Given the description of an element on the screen output the (x, y) to click on. 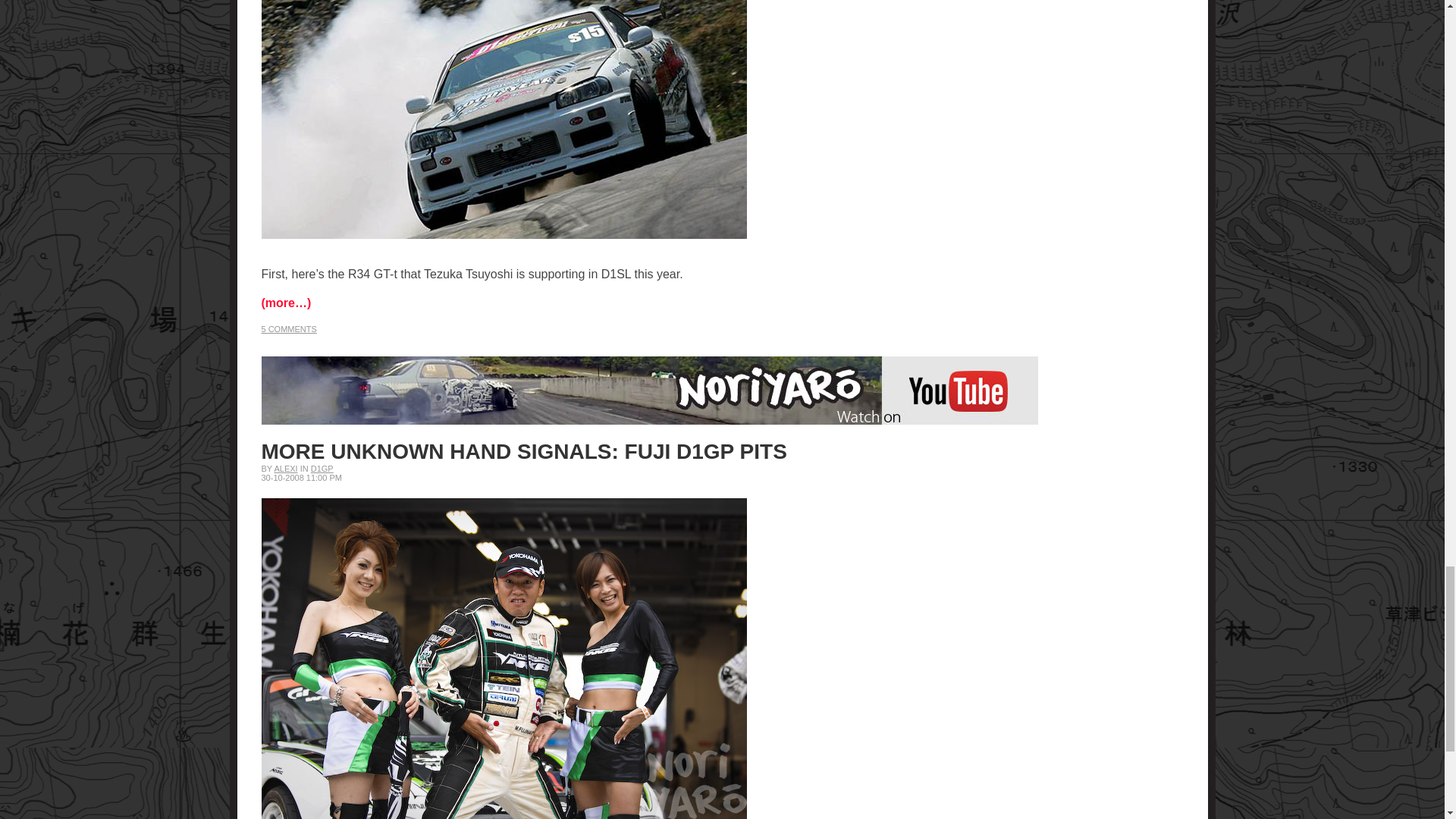
5 COMMENTS (287, 328)
MORE UNKNOWN HAND SIGNALS: Fuji D1GP pits (523, 451)
D1GP (322, 468)
MORE UNKNOWN HAND SIGNALS: FUJI D1GP PITS (523, 451)
ALEXI (285, 468)
Posts by Alexi (285, 468)
